Given the description of an element on the screen output the (x, y) to click on. 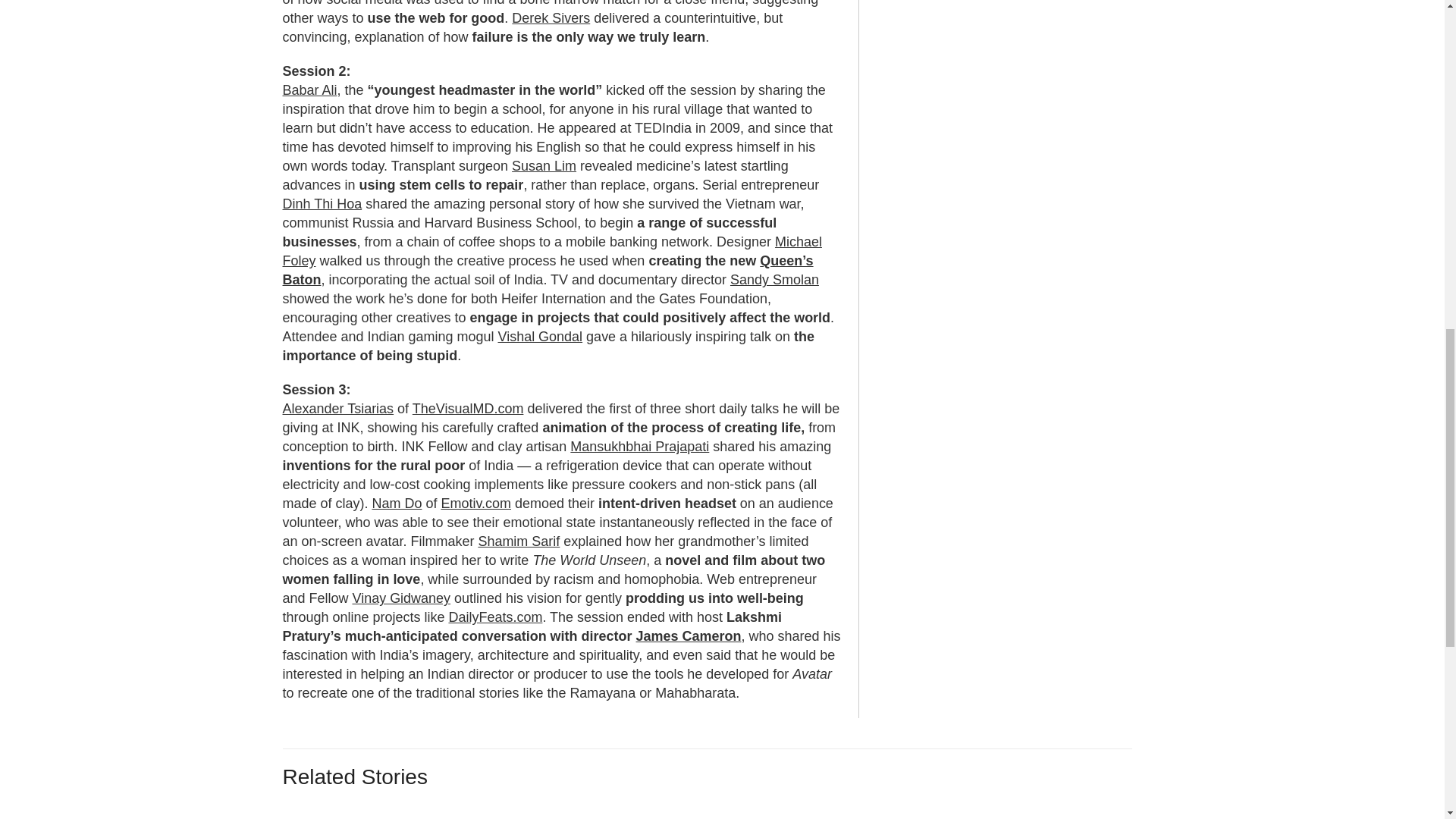
Dinh Thi Hoa (321, 203)
Mansukhbhai Prajapati (639, 446)
Vishal Gondal (539, 336)
Sandy Smolan (774, 279)
DailyFeats.com (494, 616)
TheVisualMD.com (468, 408)
Susan Lim (544, 165)
Alexander Tsiarias (337, 408)
Emotiv.com (476, 503)
Vinay Gidwaney (400, 598)
